Given the description of an element on the screen output the (x, y) to click on. 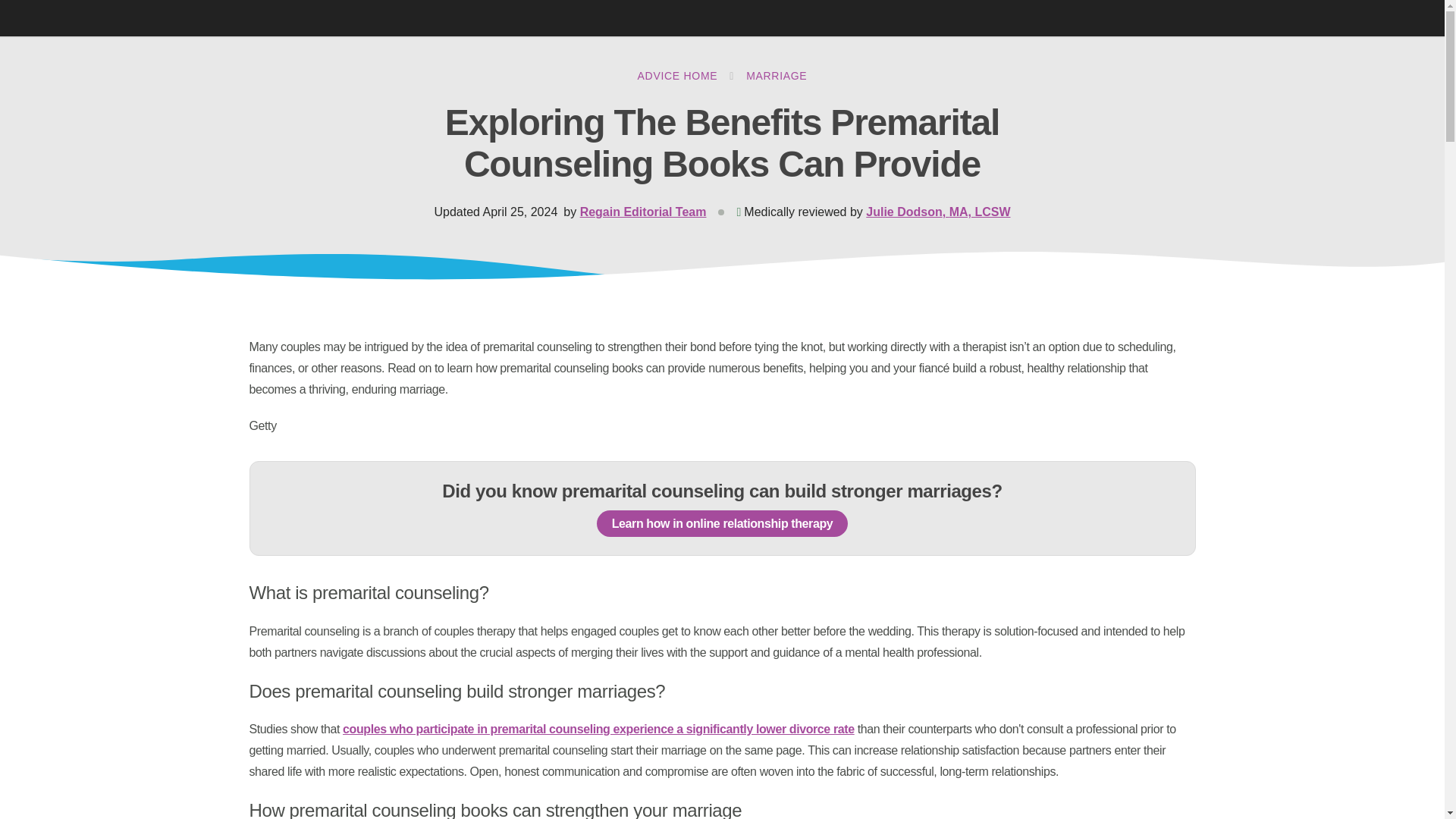
Julie Dodson, MA, LCSW (938, 212)
Regain Editorial Team (642, 211)
MARRIAGE (775, 75)
Learn how in online relationship therapy (722, 523)
ADVICE HOME (677, 75)
